Given the description of an element on the screen output the (x, y) to click on. 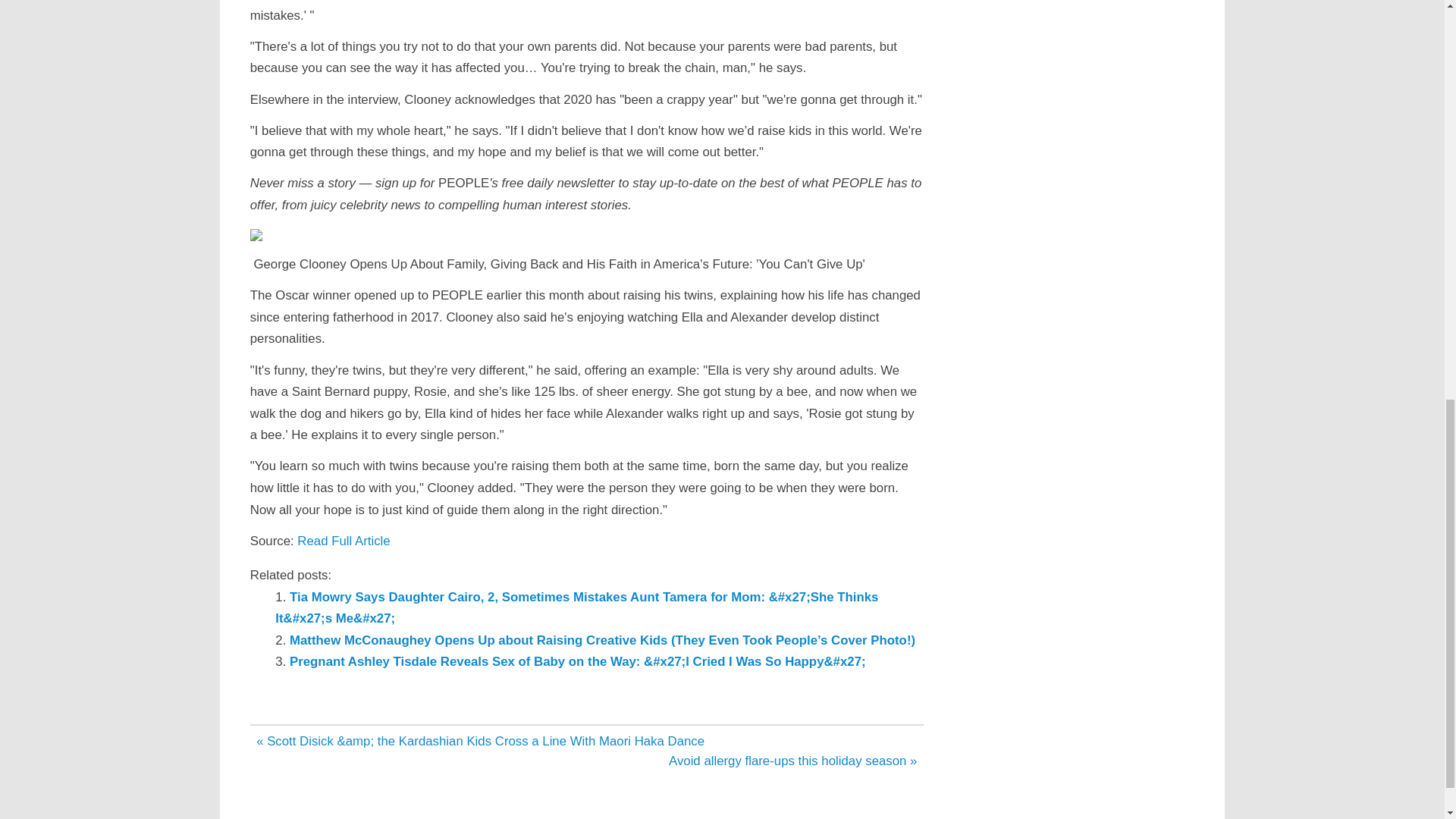
Read Full Article (343, 540)
